Given the description of an element on the screen output the (x, y) to click on. 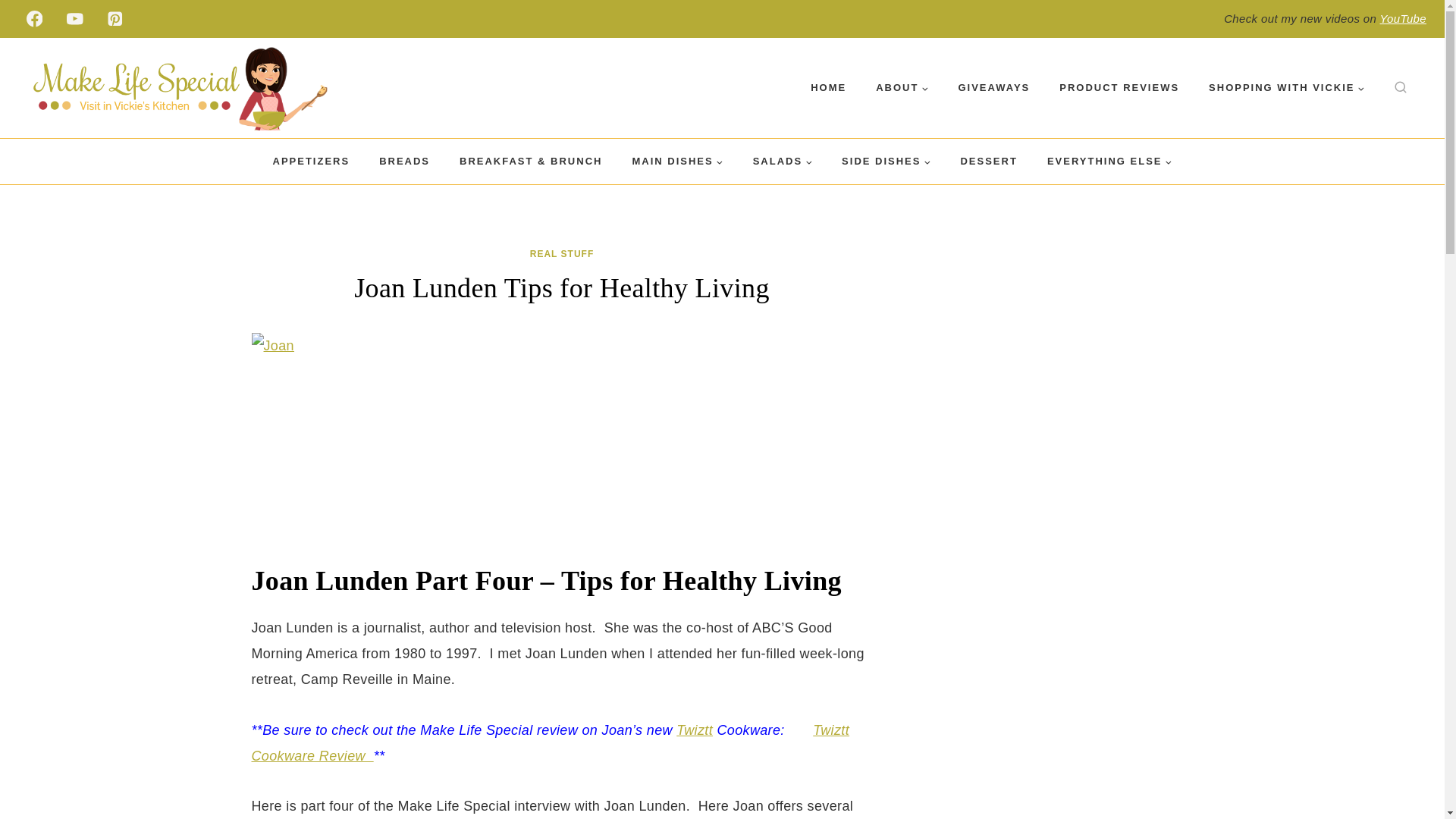
HOME (828, 87)
PRODUCT REVIEWS (1119, 87)
GIVEAWAYS (994, 87)
YouTube (1403, 18)
SIDE DISHES (885, 161)
APPETIZERS (311, 161)
ABOUT (902, 87)
Twiztt Cookware Review (550, 742)
DESSERT (988, 161)
SHOPPING WITH VICKIE (1285, 87)
